Given the description of an element on the screen output the (x, y) to click on. 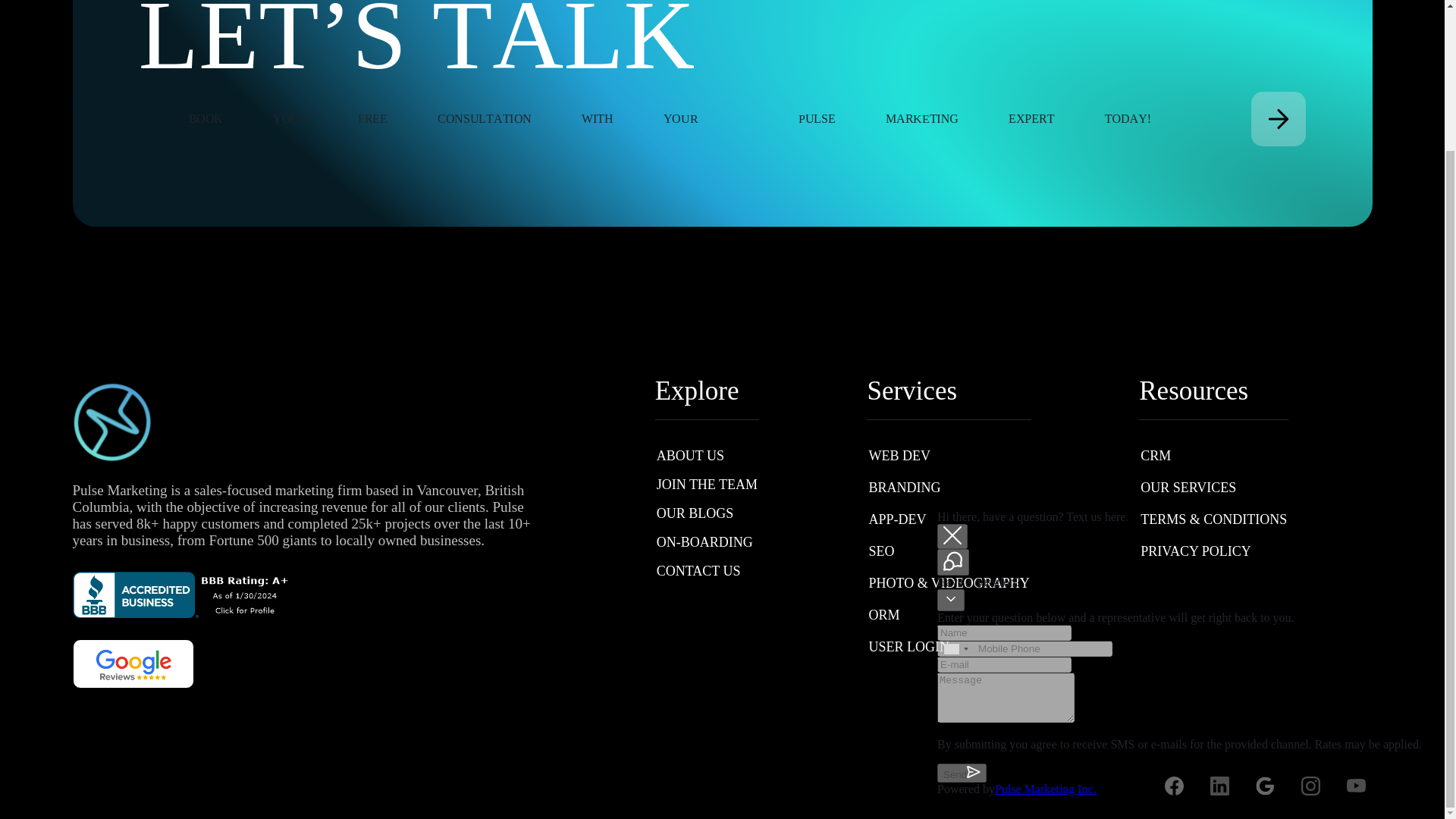
Explore (706, 391)
